Given the description of an element on the screen output the (x, y) to click on. 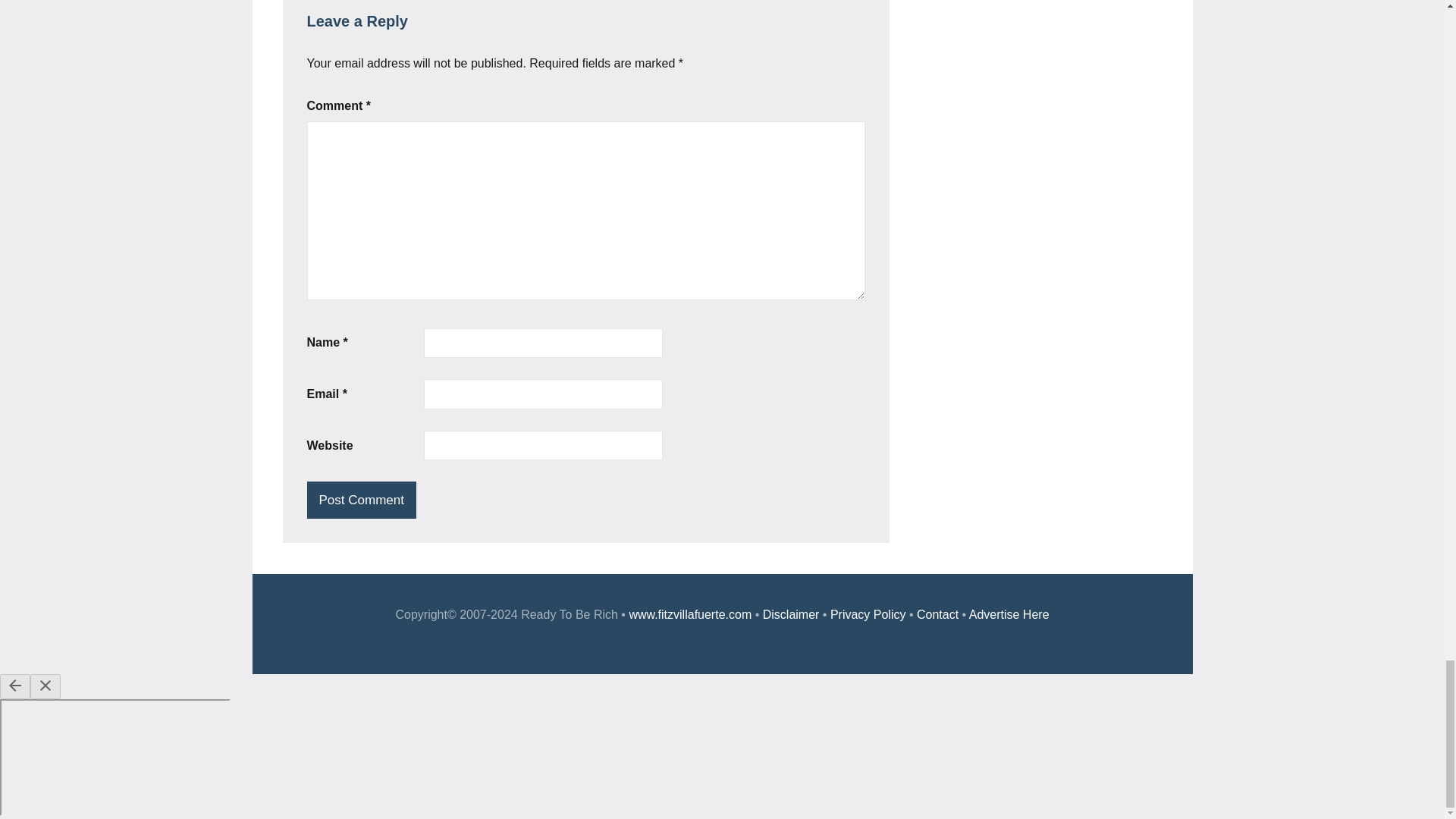
Post Comment (359, 499)
